Given the description of an element on the screen output the (x, y) to click on. 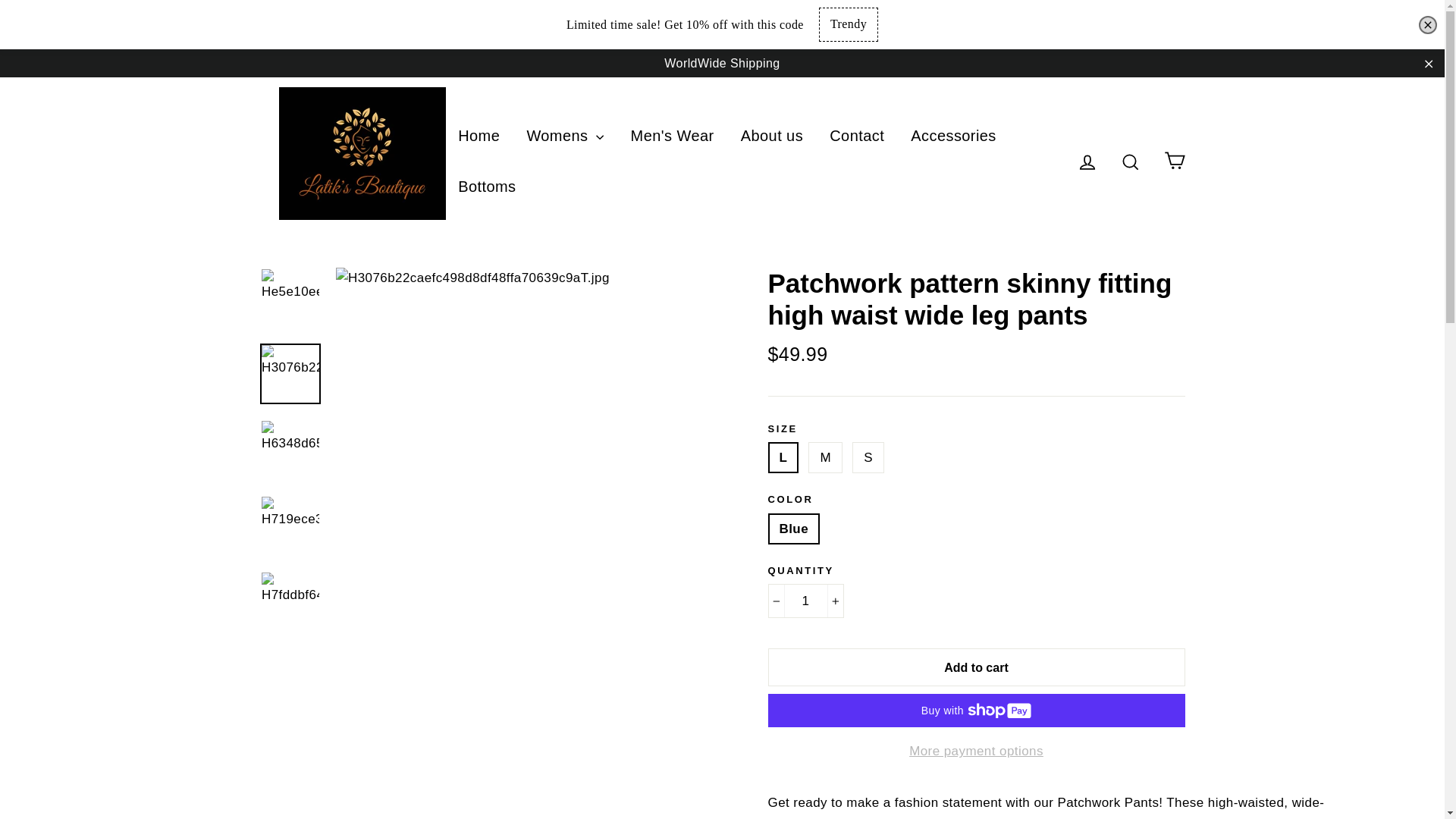
Contact (856, 135)
Womens (564, 135)
Men's Wear (672, 135)
Home (478, 135)
Bottoms (486, 185)
Accessories (953, 135)
About us (771, 135)
1 (805, 600)
